Given the description of an element on the screen output the (x, y) to click on. 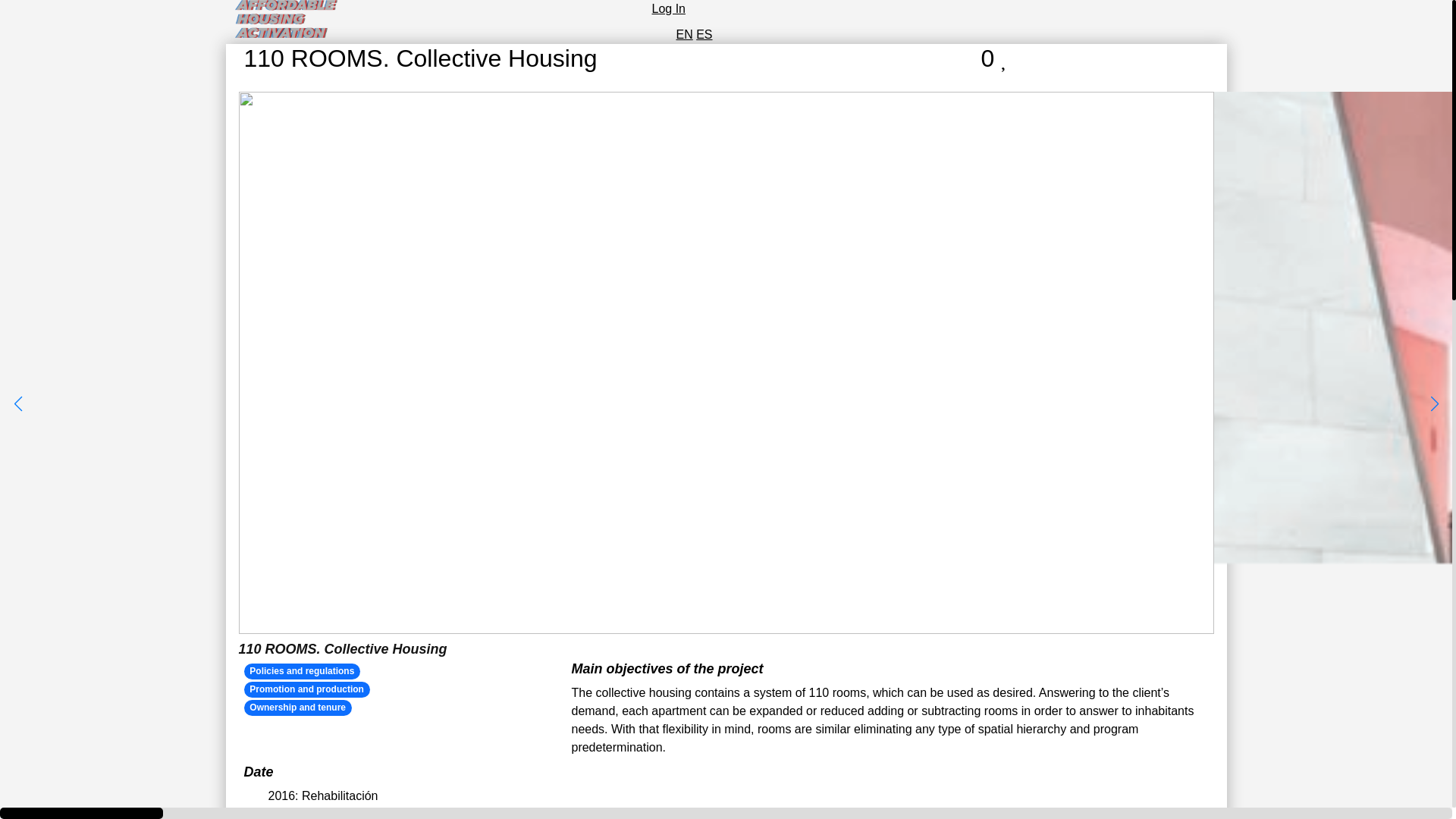
ES (703, 33)
Development and production of housing (306, 688)
Types and execution of ownership and tenure (298, 707)
AHA (247, 46)
Policy, legal and regulatory frameworks (302, 670)
EN (685, 33)
Log In (668, 8)
